Given the description of an element on the screen output the (x, y) to click on. 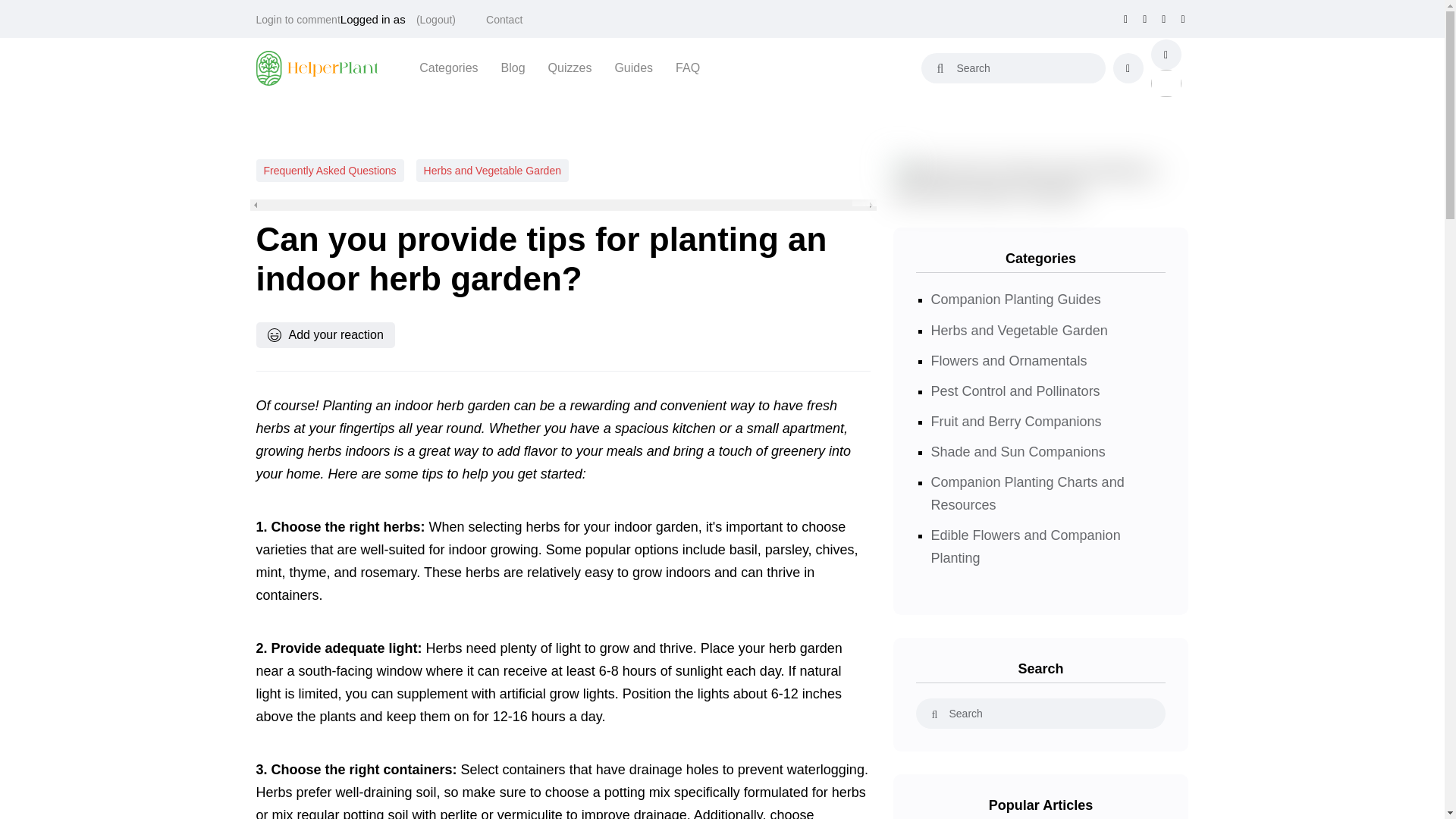
Login to comment (298, 19)
Contact (504, 19)
Categories (448, 67)
